Given the description of an element on the screen output the (x, y) to click on. 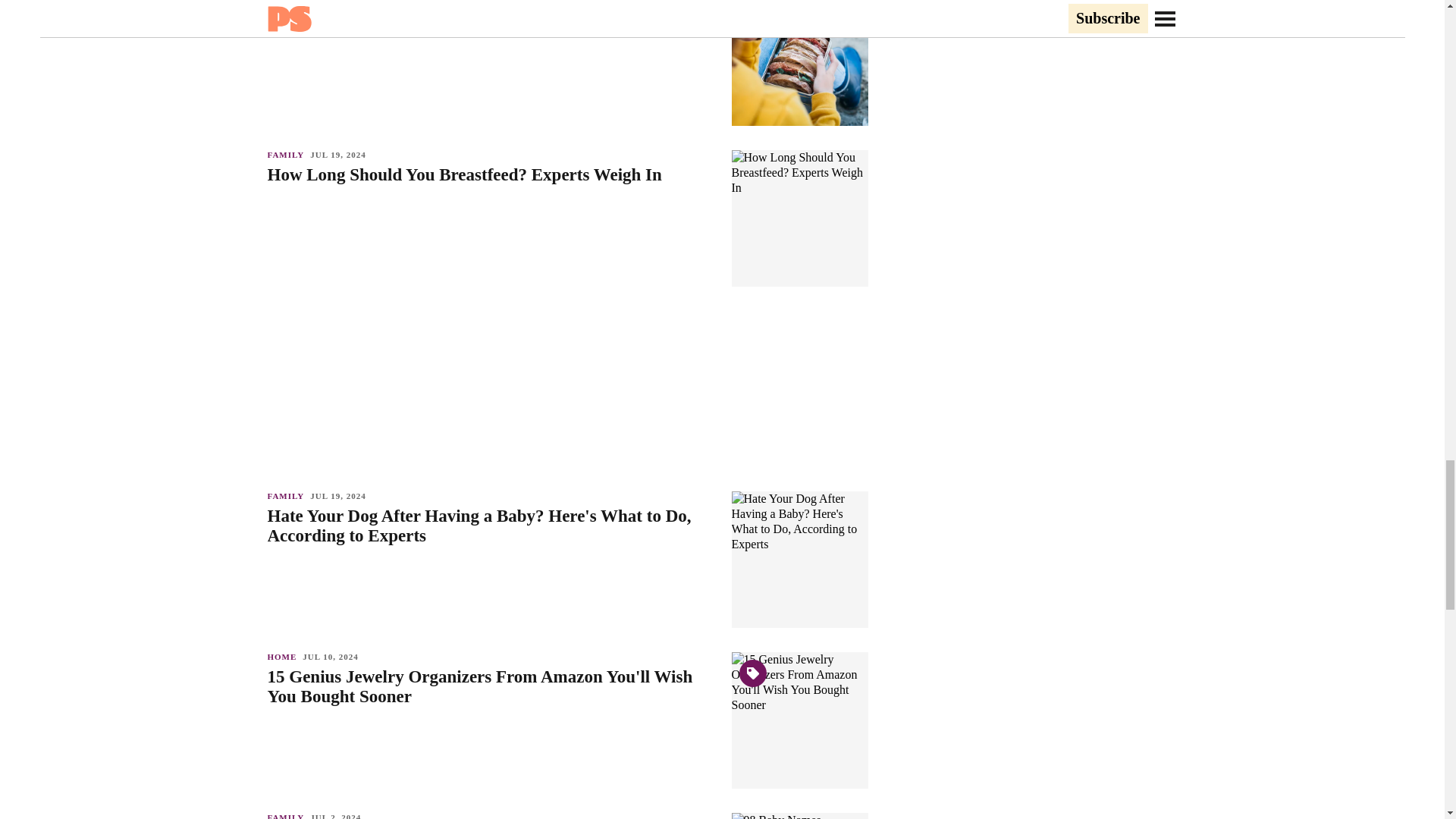
FAMILY (288, 153)
10 Simple and Nutritious Lunch Ideas For Picky Eaters (491, 14)
How Long Should You Breastfeed? Experts Weigh In (491, 175)
